Given the description of an element on the screen output the (x, y) to click on. 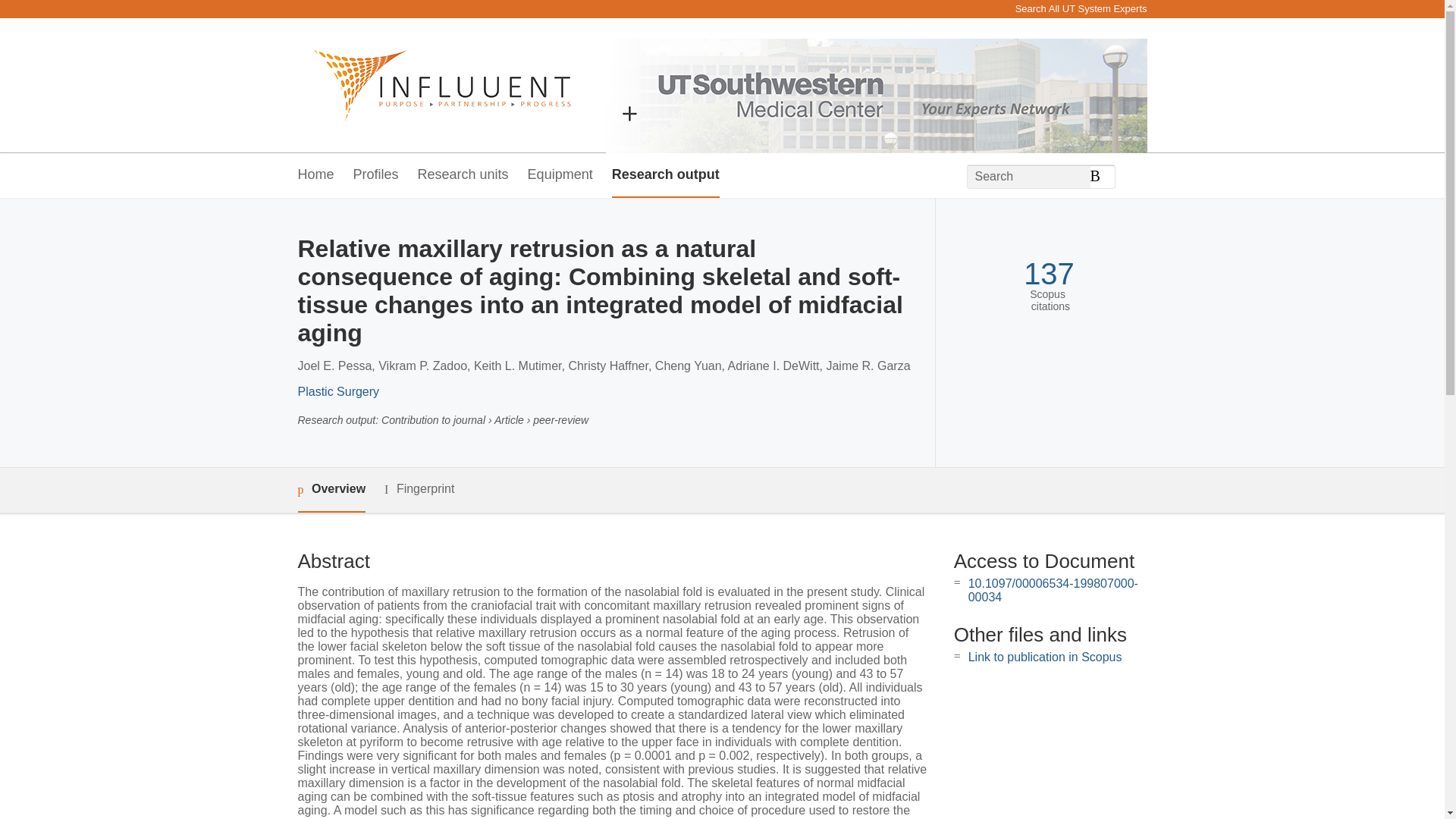
Equipment (559, 175)
Fingerprint (419, 489)
Link to publication in Scopus (1045, 656)
University of Texas Southwestern Medical Center Home (434, 85)
Profiles (375, 175)
Research units (462, 175)
Research output (665, 175)
Plastic Surgery (337, 391)
Overview (331, 489)
137 (1048, 274)
